Given the description of an element on the screen output the (x, y) to click on. 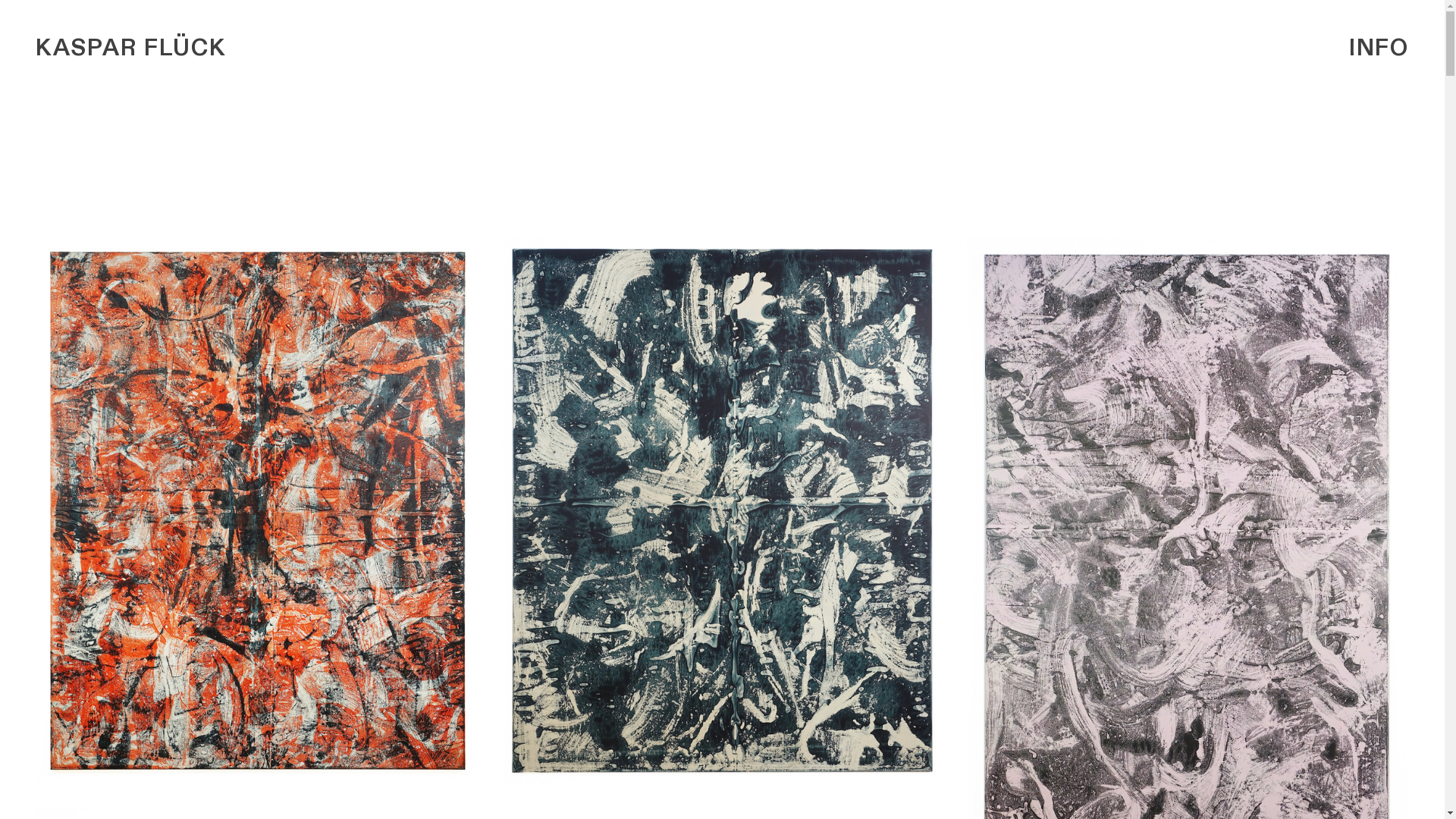
INFO Element type: text (1378, 47)
